Given the description of an element on the screen output the (x, y) to click on. 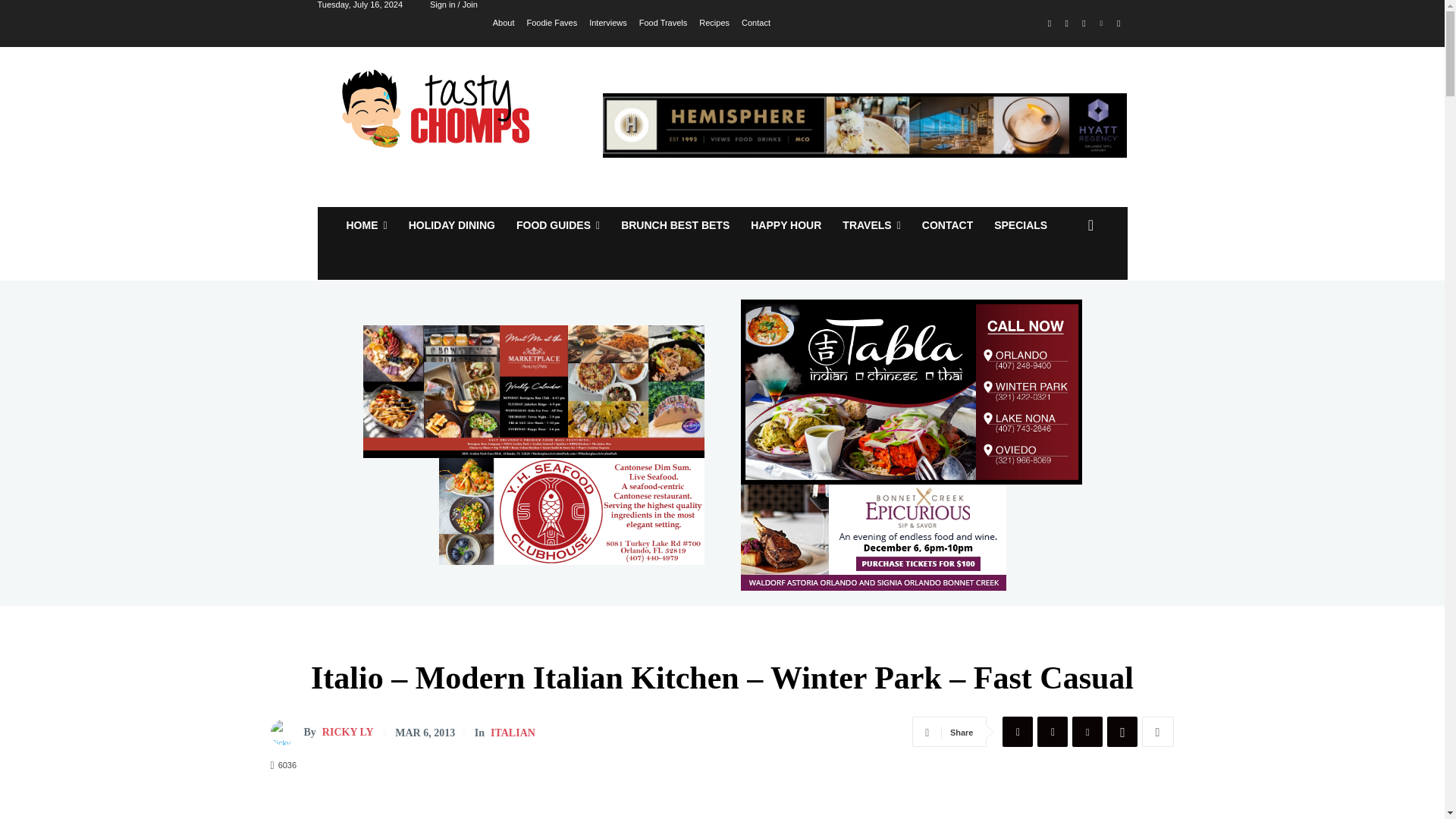
Facebook (1049, 23)
Instagram (1066, 23)
Tasty Chomps Orlando Food Blog (439, 108)
FOOD GUIDES (557, 225)
Vimeo (1101, 23)
Facebook (1017, 731)
Youtube (1117, 23)
Ricky Ly (285, 732)
Twitter (1084, 23)
Food Travels (663, 22)
Foodie Faves (552, 22)
HOME (365, 225)
TRAVELS (871, 225)
Recipes (713, 22)
Contact (755, 22)
